Given the description of an element on the screen output the (x, y) to click on. 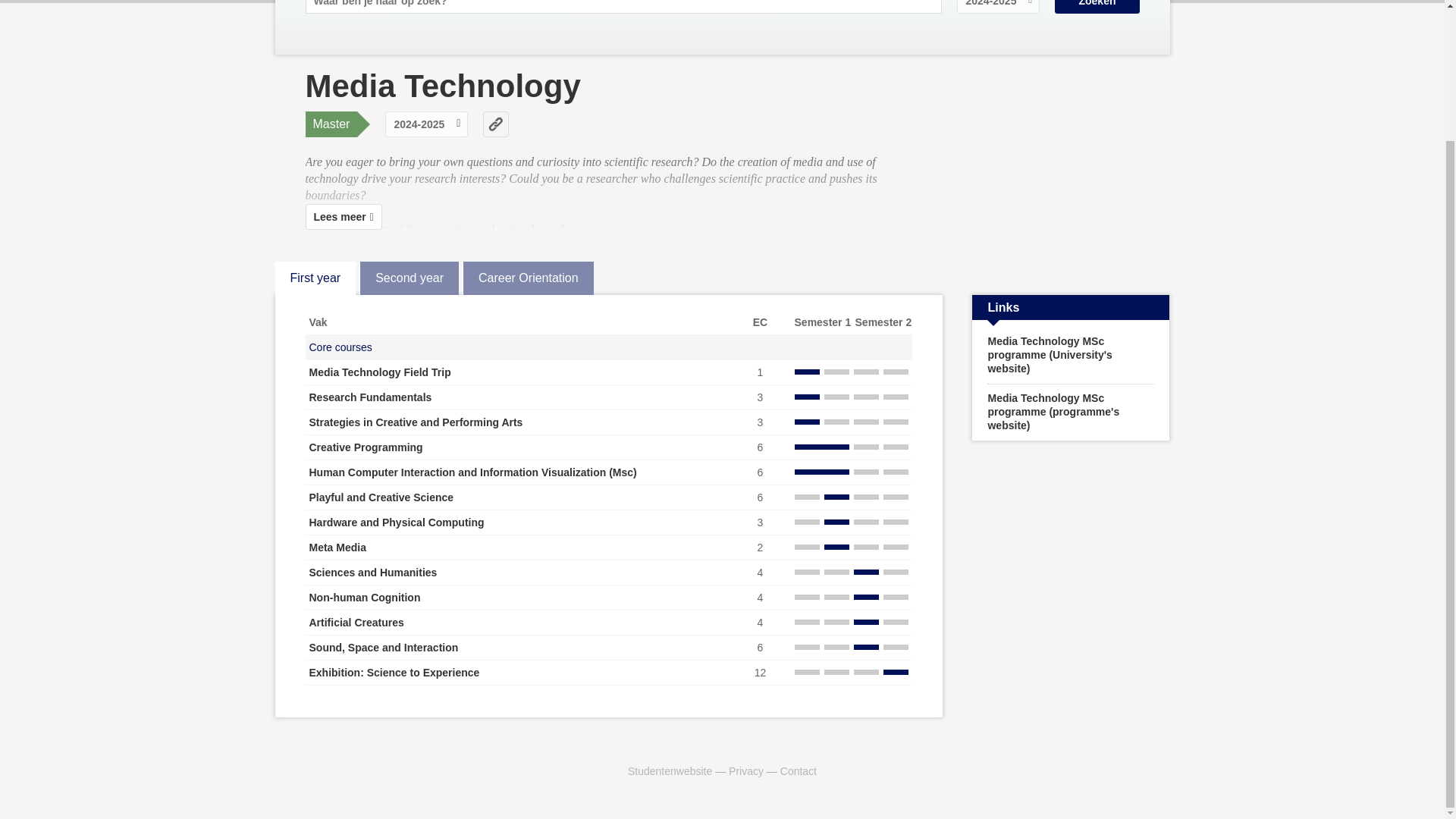
Artificial Creatures (356, 622)
Sciences and Humanities (373, 572)
Media Technology Field Trip (379, 372)
Sound, Space and Interaction (383, 647)
First year (315, 277)
Non-human Cognition (364, 597)
Privacy (745, 770)
Second year (408, 277)
Meta Media (337, 547)
Lees meer (342, 216)
Playful and Creative Science (381, 497)
Career Orientation (528, 277)
Research Fundamentals (370, 397)
Zoeken (1096, 6)
Contact (798, 770)
